Given the description of an element on the screen output the (x, y) to click on. 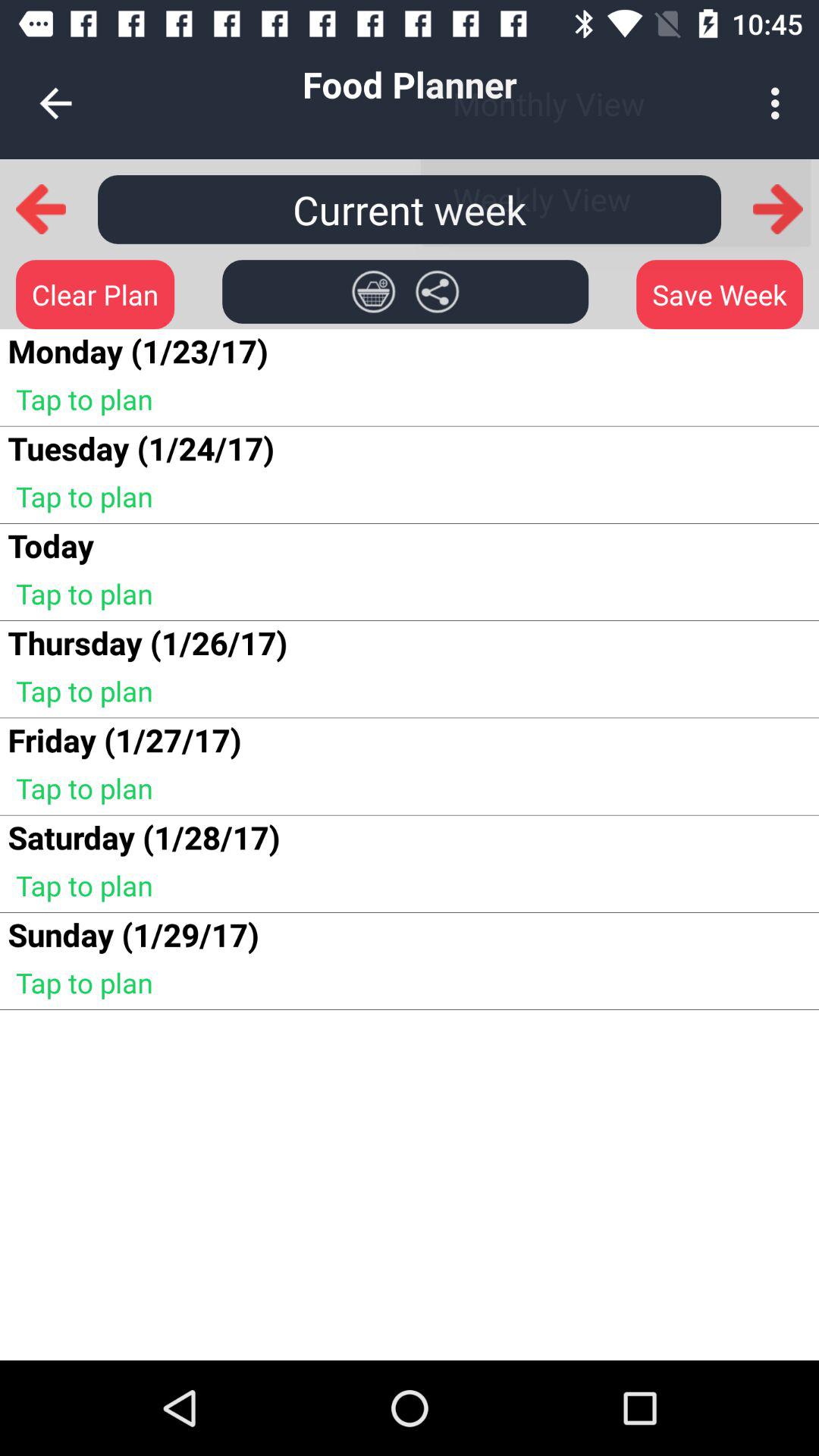
choose the item below tap to plan (50, 545)
